Given the description of an element on the screen output the (x, y) to click on. 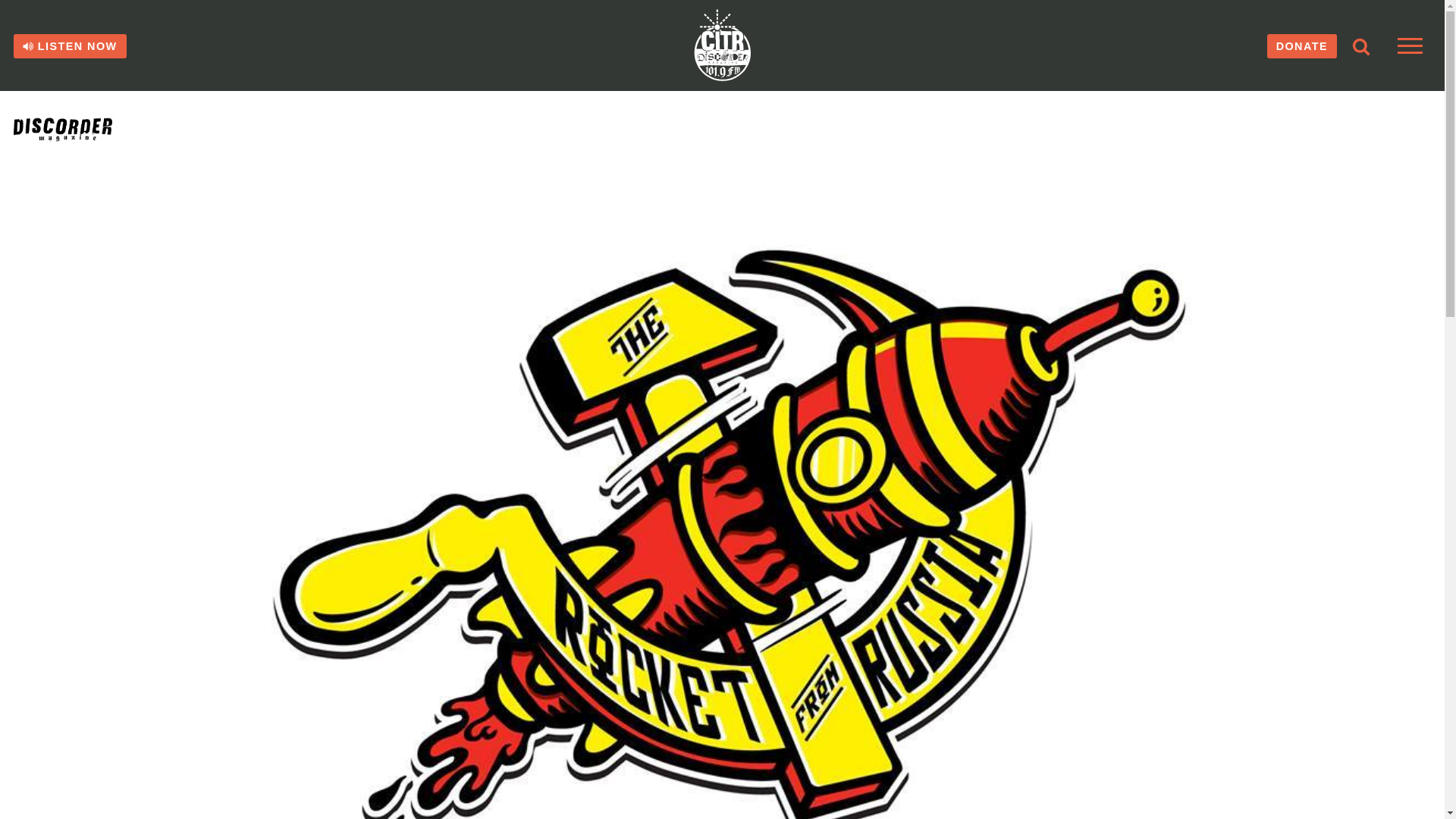
Discorder Magazine (81, 129)
LISTEN NOW (69, 46)
Toggle navigation (1410, 45)
DONATE (1301, 46)
